Given the description of an element on the screen output the (x, y) to click on. 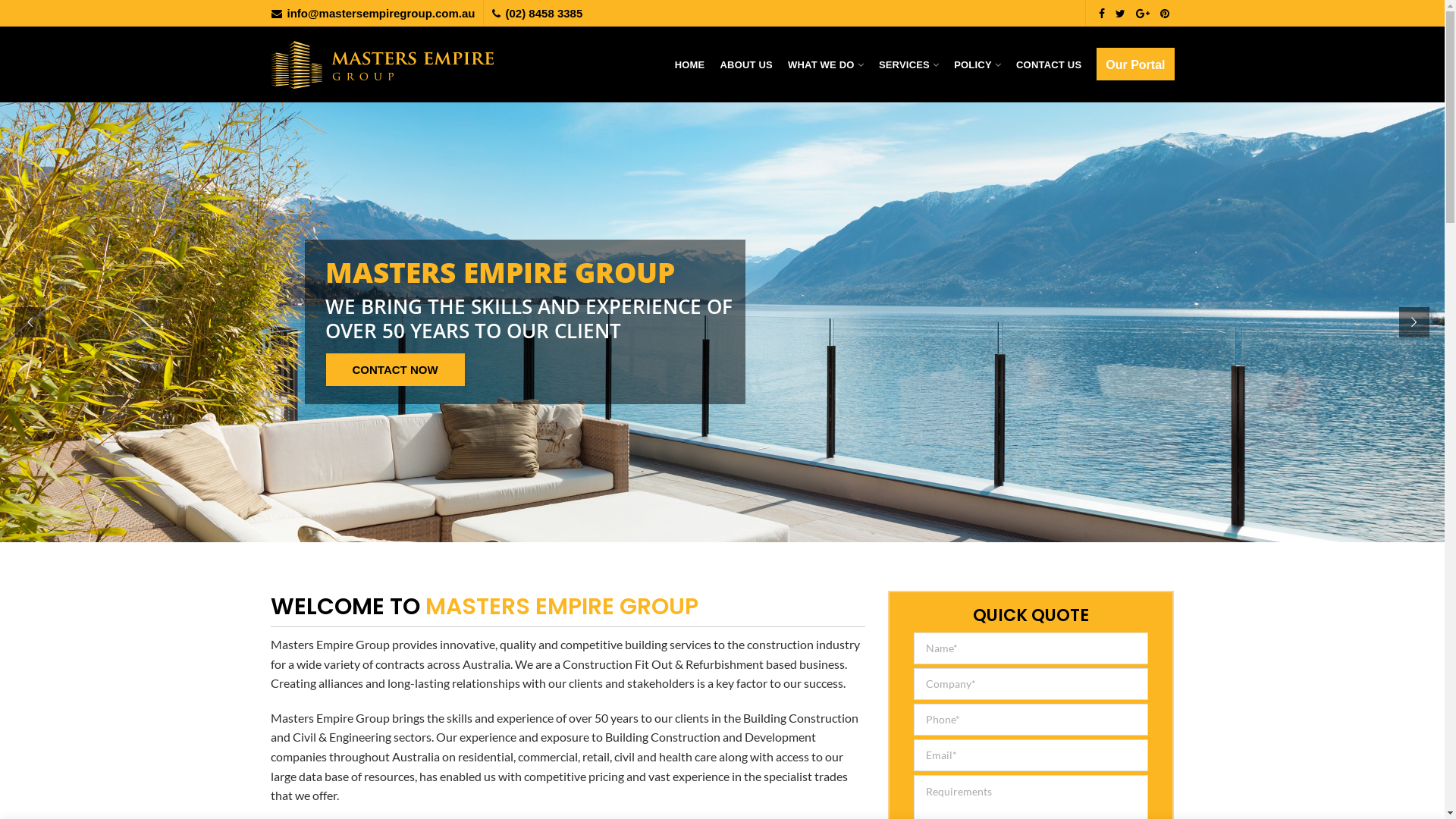
ABOUT US Element type: text (746, 64)
WHAT WE DO Element type: text (825, 64)
HOME Element type: text (689, 64)
Pinterest Element type: text (1163, 12)
SERVICES Element type: text (908, 64)
Google Element type: text (1141, 12)
info@mastersempiregroup.com.au Element type: text (380, 12)
POLICY Element type: text (977, 64)
Our Portal Element type: text (1134, 63)
Twitter Element type: text (1120, 12)
Facebook Element type: text (1101, 12)
CONTACT US Element type: text (1048, 64)
(02) 8458 3385 Element type: text (544, 12)
